Given the description of an element on the screen output the (x, y) to click on. 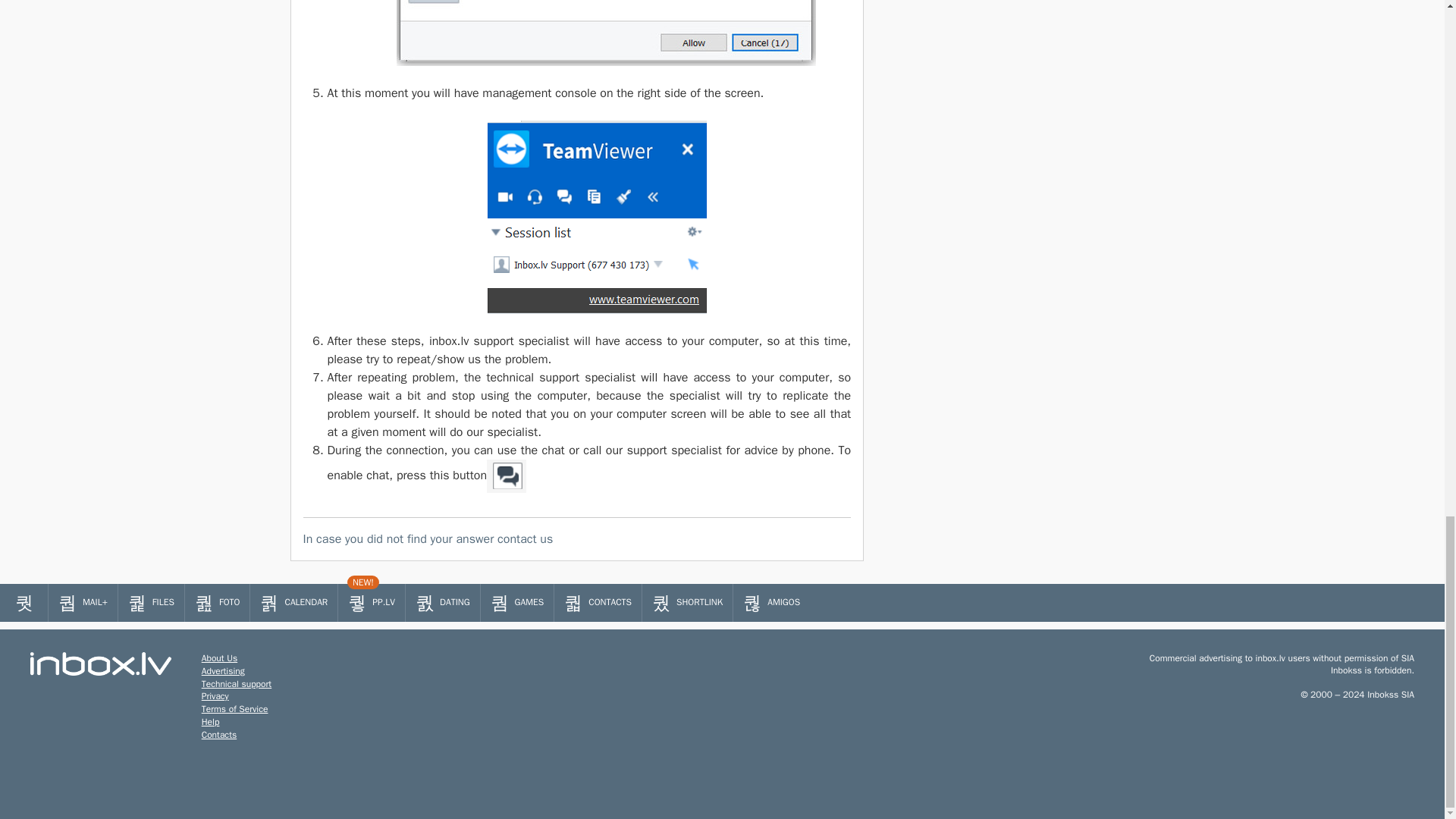
DATING (443, 602)
SHORTLINK (687, 602)
Advertising (223, 671)
Technical support (237, 684)
FOTO (217, 602)
FILES (150, 602)
CALENDAR (293, 602)
Privacy (215, 695)
About Us (219, 657)
GAMES (517, 602)
Terms of Service (234, 708)
AMIGOS (771, 602)
In case you did not find your answer contact us (576, 538)
Help (210, 721)
CONTACTS (598, 602)
